Given the description of an element on the screen output the (x, y) to click on. 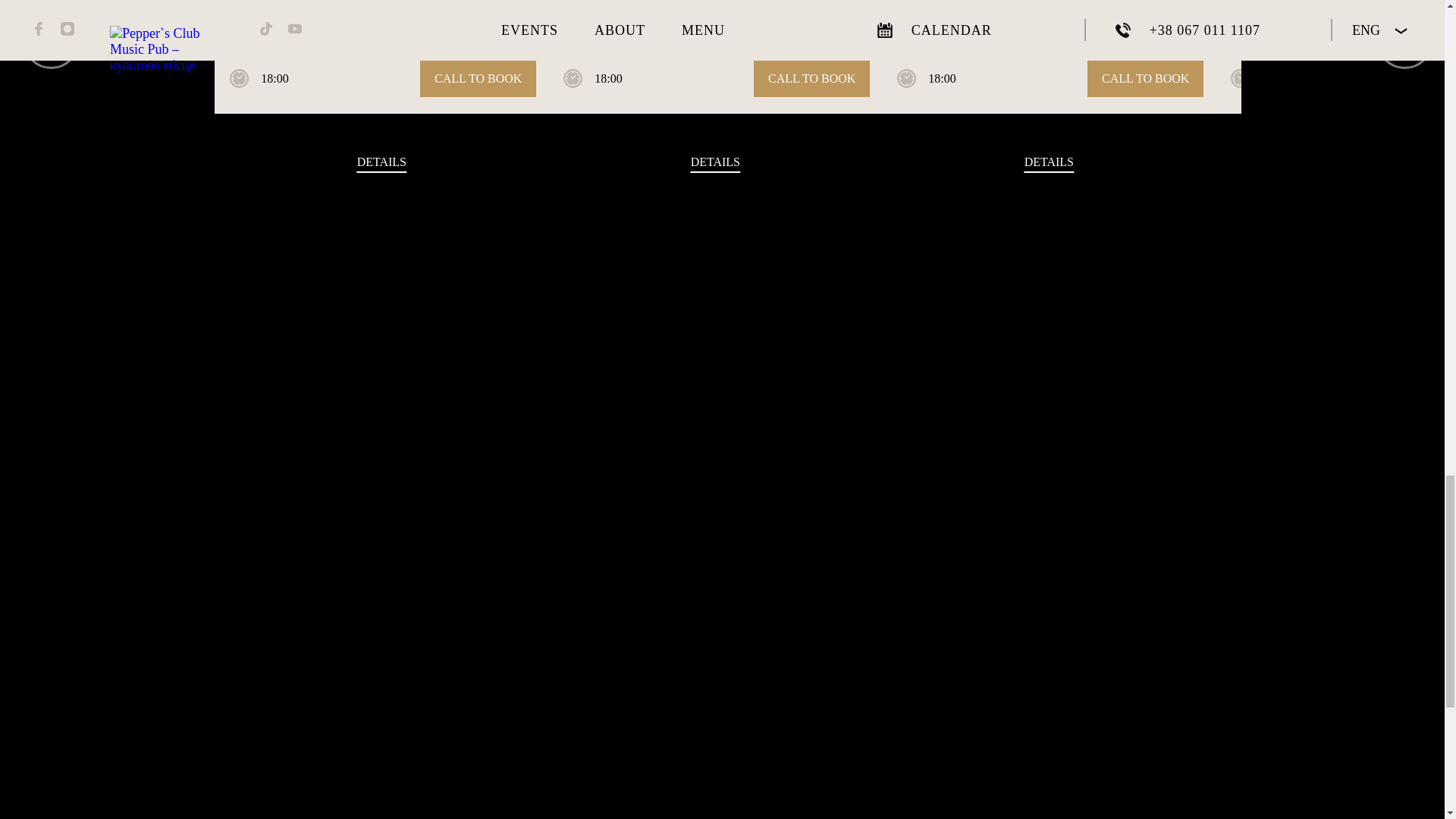
NO COMMENTS LIVE BAND (1048, 3)
CALL TO BOOK (477, 78)
CALL TO BOOK (811, 78)
DETAILS (1049, 161)
CALL TO BOOK (1145, 78)
DETAILS (381, 161)
DETAILS (714, 161)
